Given the description of an element on the screen output the (x, y) to click on. 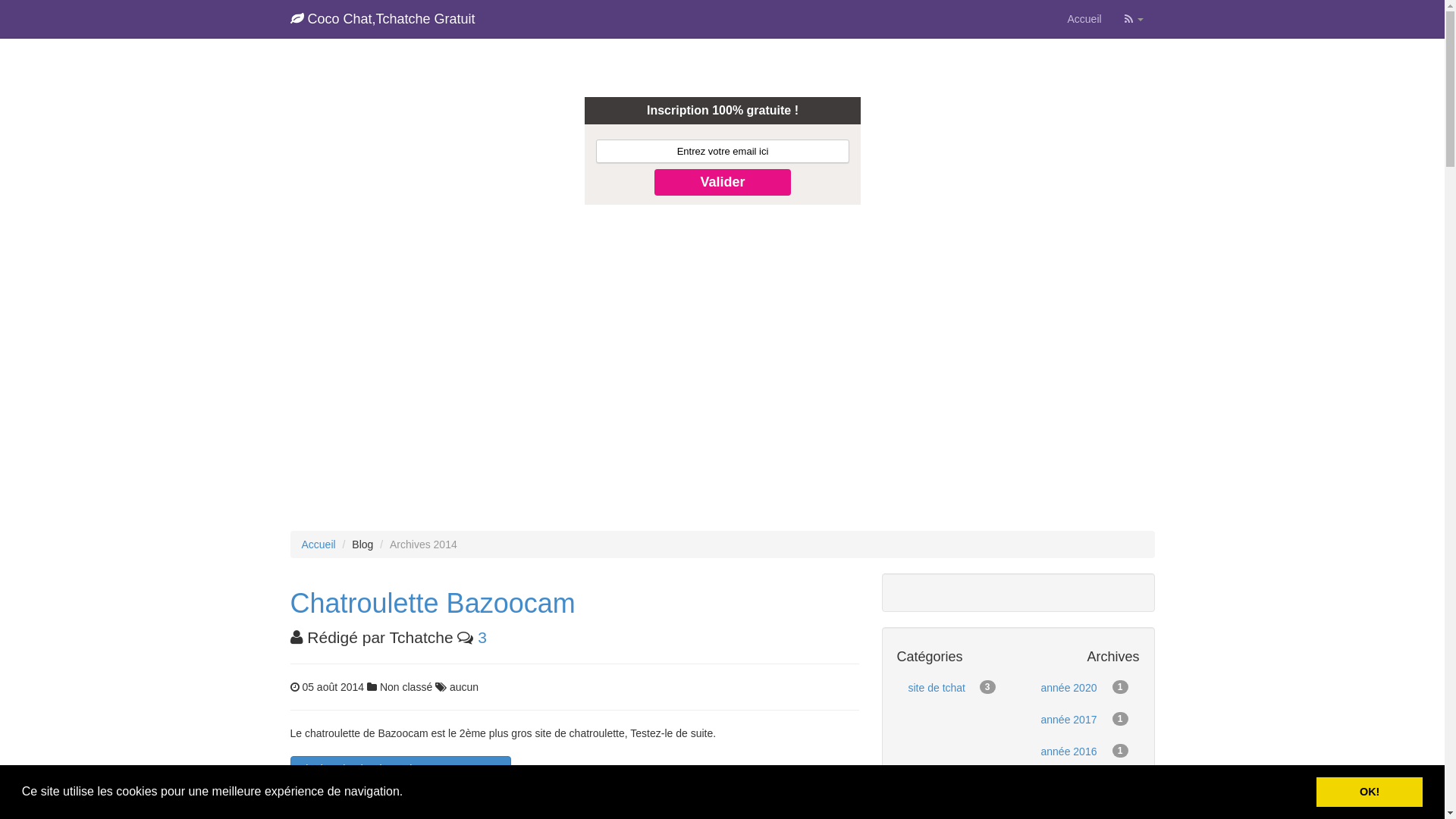
3
site de tchat Element type: text (951, 687)
Accueil Element type: text (1083, 18)
Coco Chat,Tchatche Gratuit Element type: text (382, 18)
3 Element type: text (481, 637)
OK! Element type: text (1369, 791)
Chatroulette Bazoocam Element type: text (431, 602)
Lire la suite de Chatroulette Bazoocam Element type: text (399, 768)
Accueil Element type: text (318, 544)
